Given the description of an element on the screen output the (x, y) to click on. 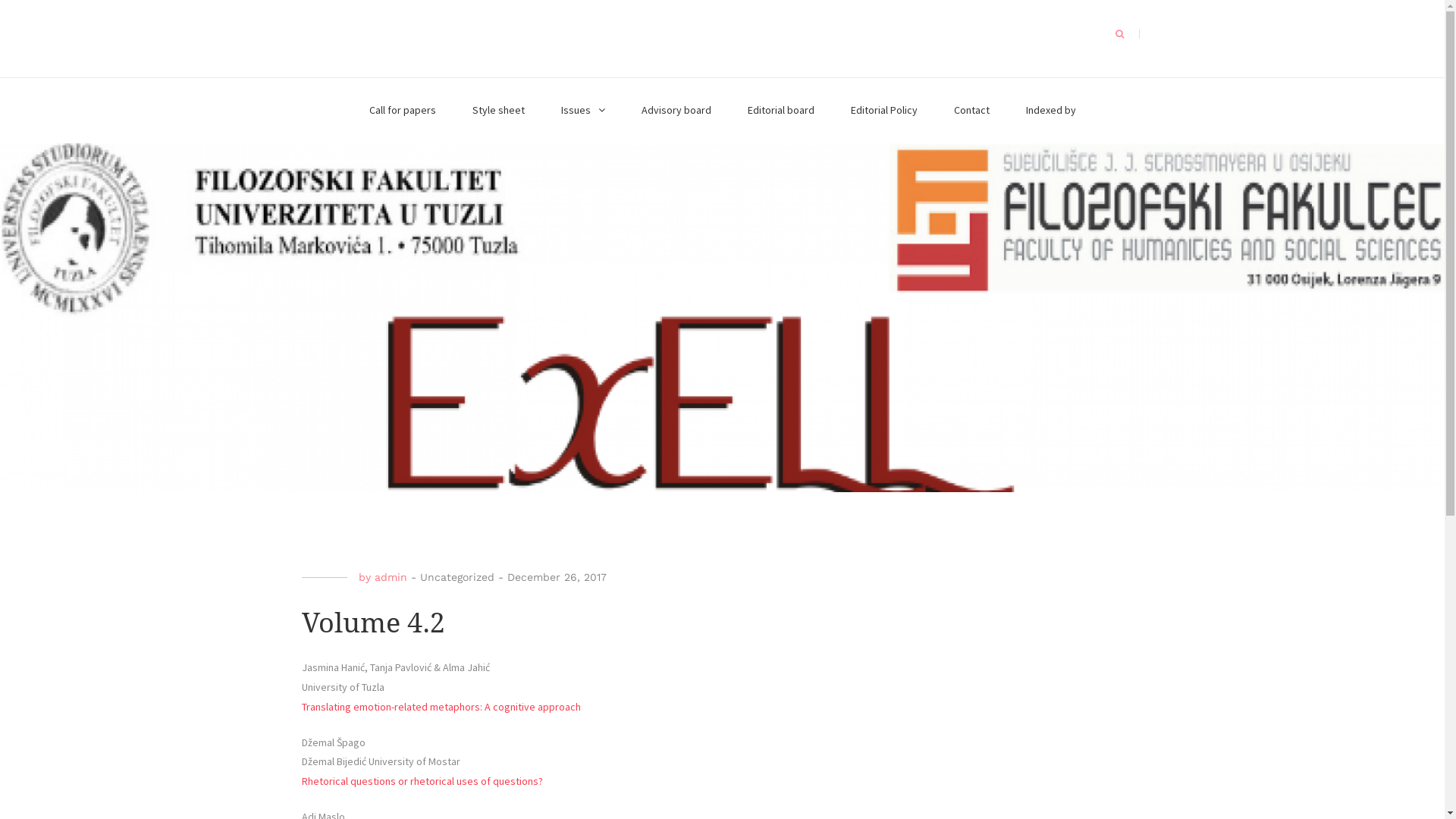
Indexed by Element type: text (1050, 110)
Editorial Policy Element type: text (883, 110)
Call for papers Element type: text (401, 110)
Editorial board Element type: text (780, 110)
December 26, 2017 Element type: text (555, 577)
Style sheet Element type: text (497, 110)
admin Element type: text (390, 577)
Contact Element type: text (971, 110)
Advisory board Element type: text (676, 110)
Uncategorized Element type: text (457, 577)
Translating emotion-related metaphors: A cognitive approach Element type: text (440, 706)
Issues Element type: text (583, 110)
Rhetorical questions or rhetorical uses of questions? Element type: text (421, 780)
